Given the description of an element on the screen output the (x, y) to click on. 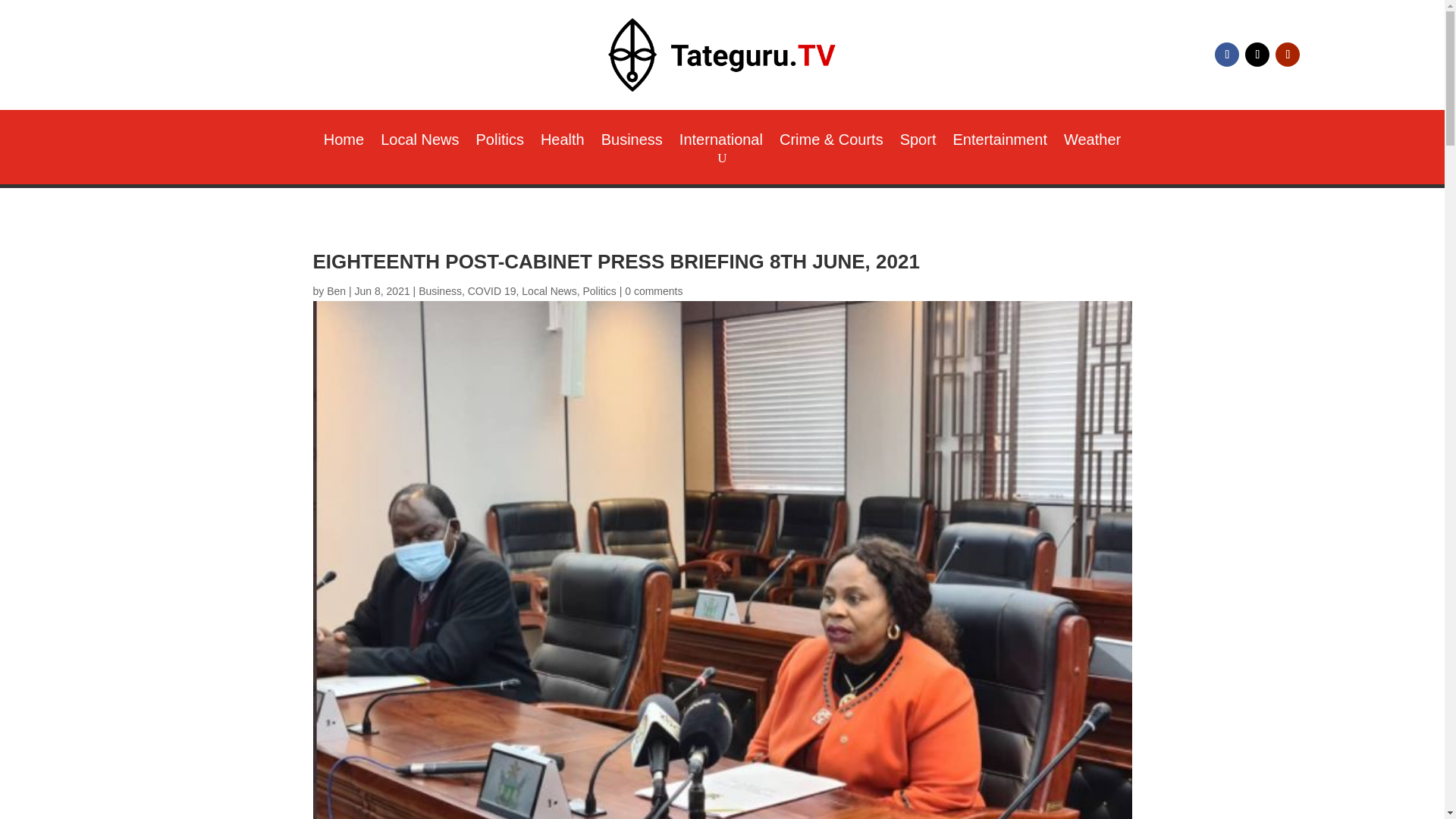
Posts by Ben (336, 291)
Follow on Youtube (1287, 54)
Business (631, 142)
Entertainment (999, 142)
Weather (1092, 142)
Local News (419, 142)
Follow on X (1256, 54)
Follow on Facebook (1226, 54)
Politics (500, 142)
International (720, 142)
Home (343, 142)
Sport (917, 142)
Health (562, 142)
